Given the description of an element on the screen output the (x, y) to click on. 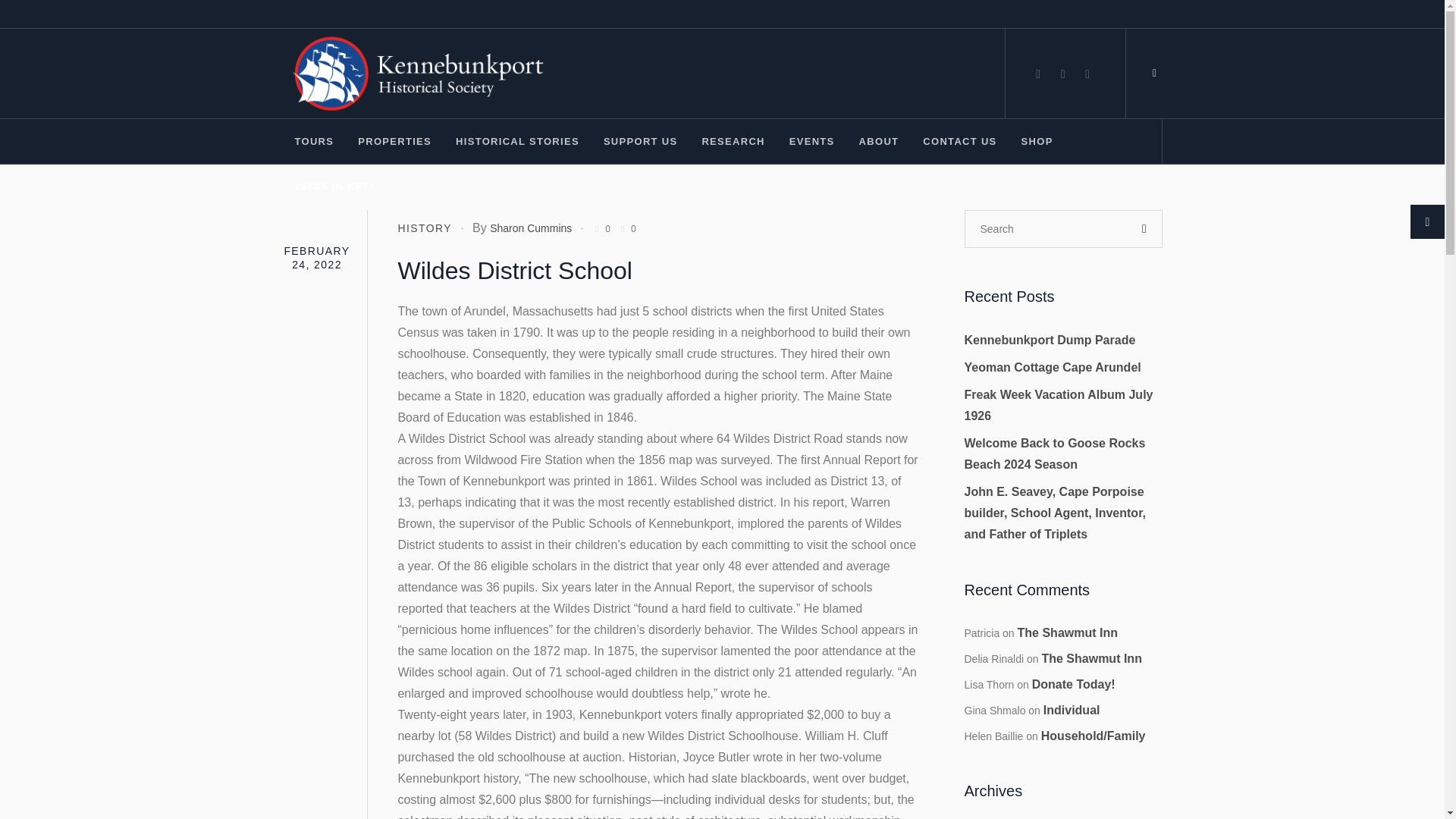
EVENTS (811, 140)
Facebook (1037, 74)
PROPERTIES (394, 140)
SUPPORT US (639, 140)
Twitter (1087, 74)
RESEARCH (732, 140)
Posts by Sharon Cummins (530, 227)
HISTORICAL STORIES (517, 140)
Instagram (1062, 74)
ABOUT (879, 140)
February 24, 2022 (316, 257)
Comment on Wildes District School (626, 228)
TOURS (313, 140)
